Given the description of an element on the screen output the (x, y) to click on. 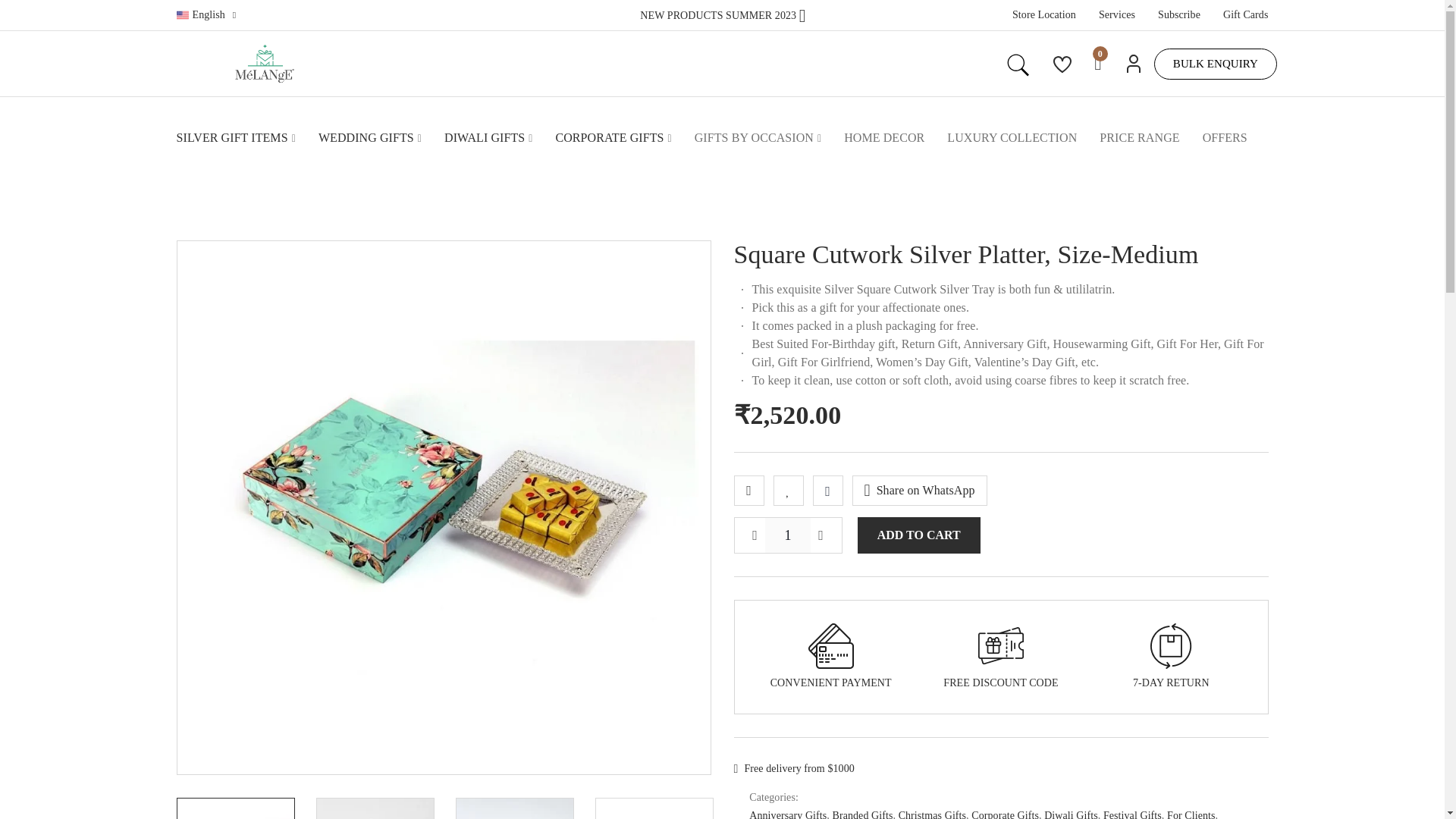
1 (787, 534)
Store Location (1043, 14)
Qty (787, 534)
NEW PRODUCTS SUMMER 2023 (722, 14)
Subscribe (1178, 14)
TR1029-2.jpg (653, 808)
English (205, 15)
Gift Cards (1245, 14)
Services (1117, 14)
TR1029-2-1.jpg (513, 808)
